Given the description of an element on the screen output the (x, y) to click on. 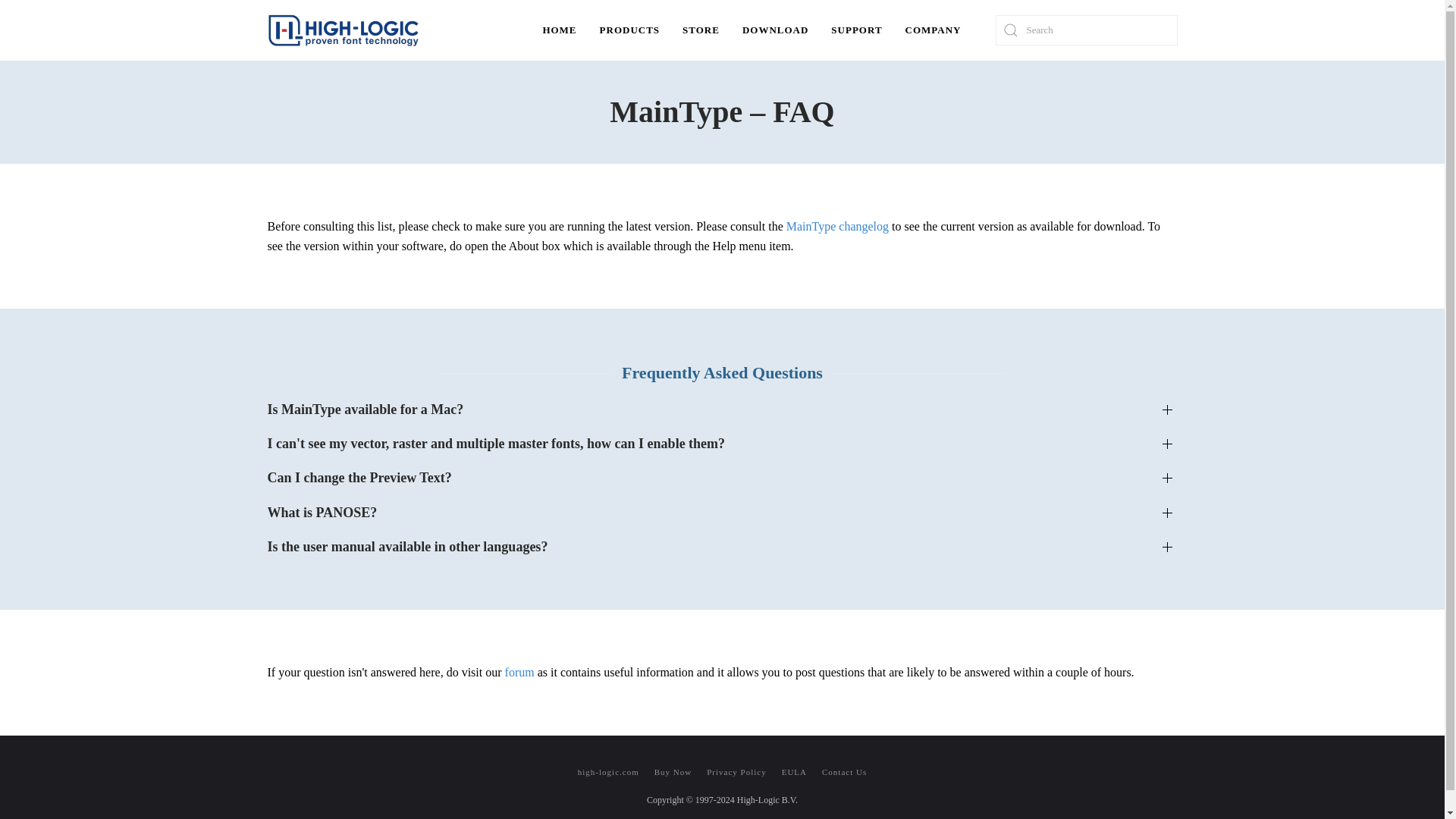
STORE (700, 30)
PRODUCTS (629, 30)
DOWNLOAD (774, 30)
SUPPORT (856, 30)
HOME (559, 30)
